Given the description of an element on the screen output the (x, y) to click on. 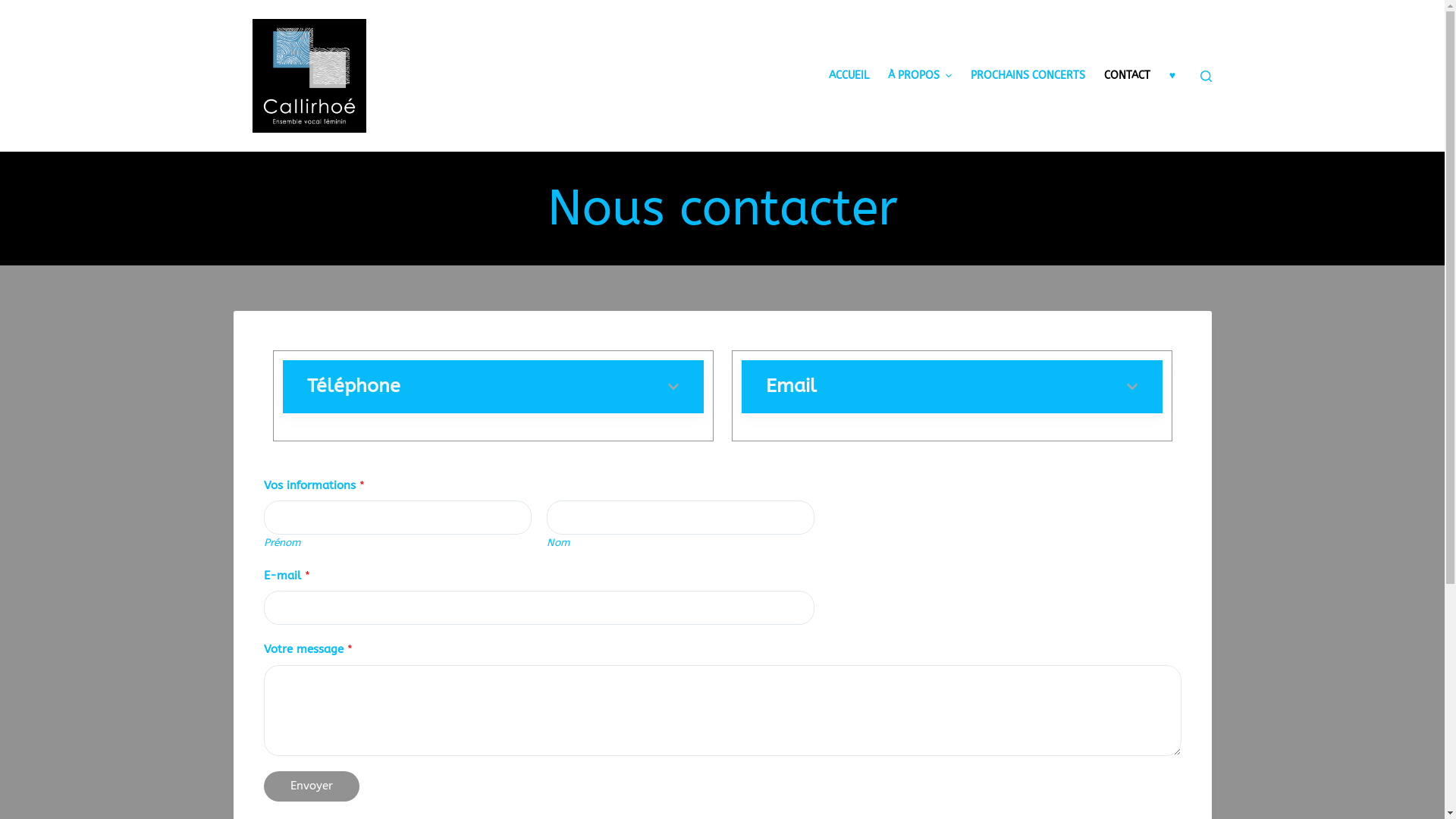
Envoyer Element type: text (311, 786)
PROCHAINS CONCERTS Element type: text (1027, 75)
ACCUEIL Element type: text (848, 75)
CONTACT Element type: text (1126, 75)
Passer au contenu Element type: text (15, 7)
